Given the description of an element on the screen output the (x, y) to click on. 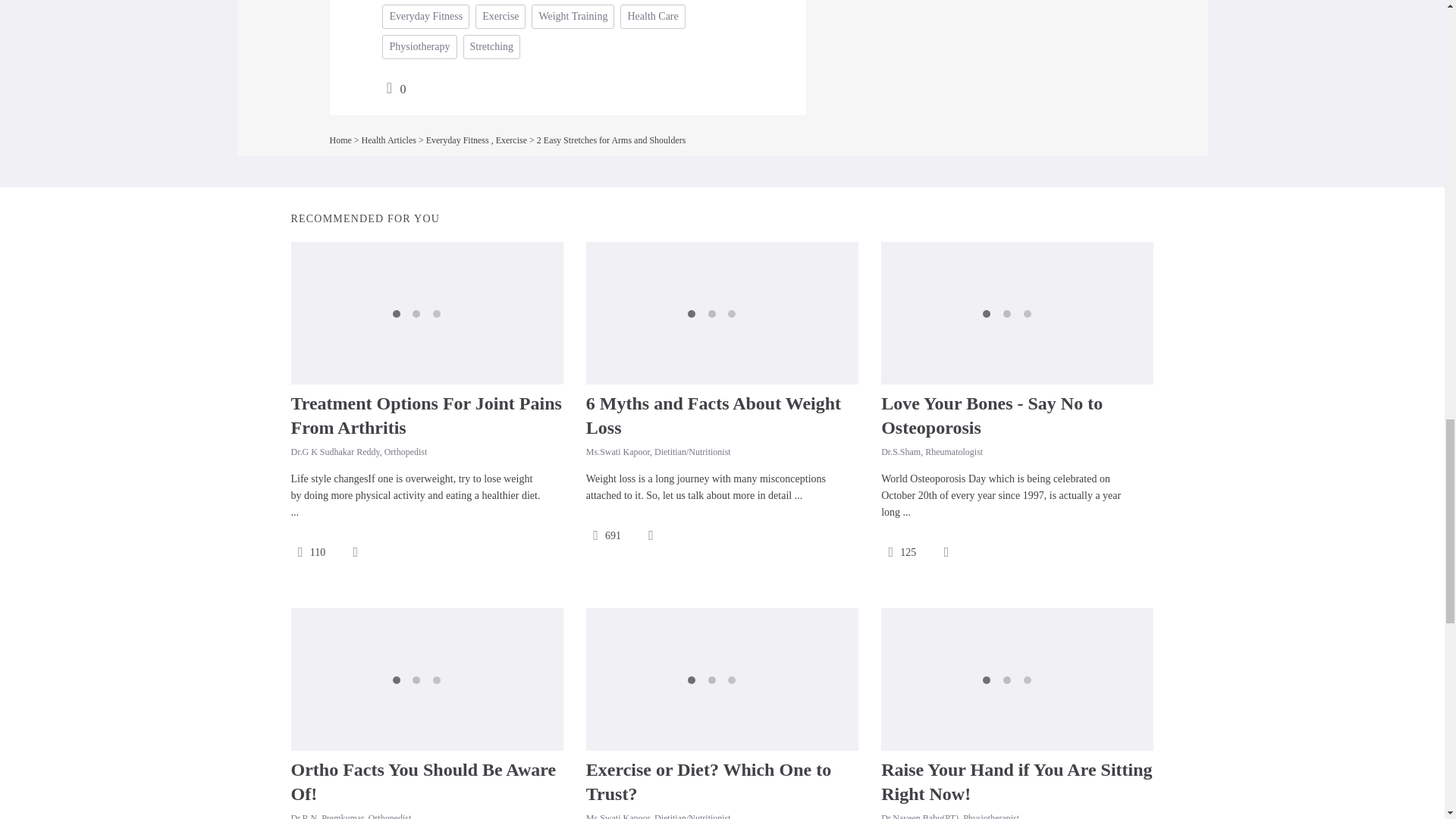
Stretching (491, 46)
Home (339, 140)
Physiotherapy (419, 46)
Treatment Options For Joint Pains From Arthritis (426, 415)
Exercise (511, 140)
Weight Training (572, 16)
Everyday Fitness (424, 16)
Exercise (500, 16)
Health Care (652, 16)
Health Articles (388, 140)
Everyday Fitness (457, 140)
